Given the description of an element on the screen output the (x, y) to click on. 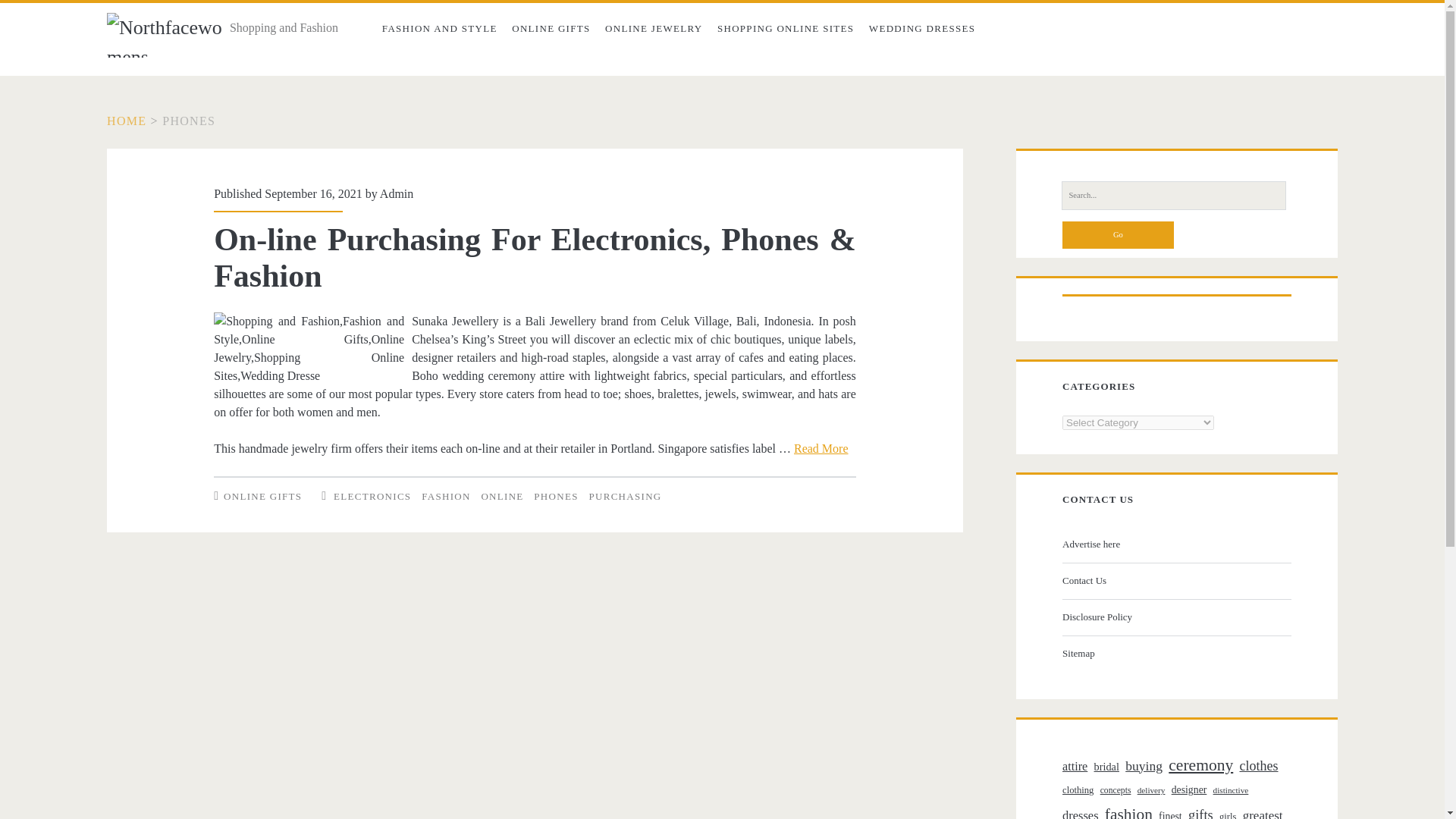
greatest (1262, 811)
View all posts in Online Gifts (262, 496)
delivery (1151, 790)
attire (1074, 766)
finest (1170, 812)
Disclosure Policy (1174, 617)
Posts by Admin (396, 193)
ELECTRONICS (371, 496)
clothes (1258, 765)
View all posts tagged fashion (446, 496)
ceremony (1201, 766)
gifts (1200, 810)
fashion (1129, 809)
ONLINE GIFTS (262, 496)
FASHION AND STYLE (438, 28)
